Given the description of an element on the screen output the (x, y) to click on. 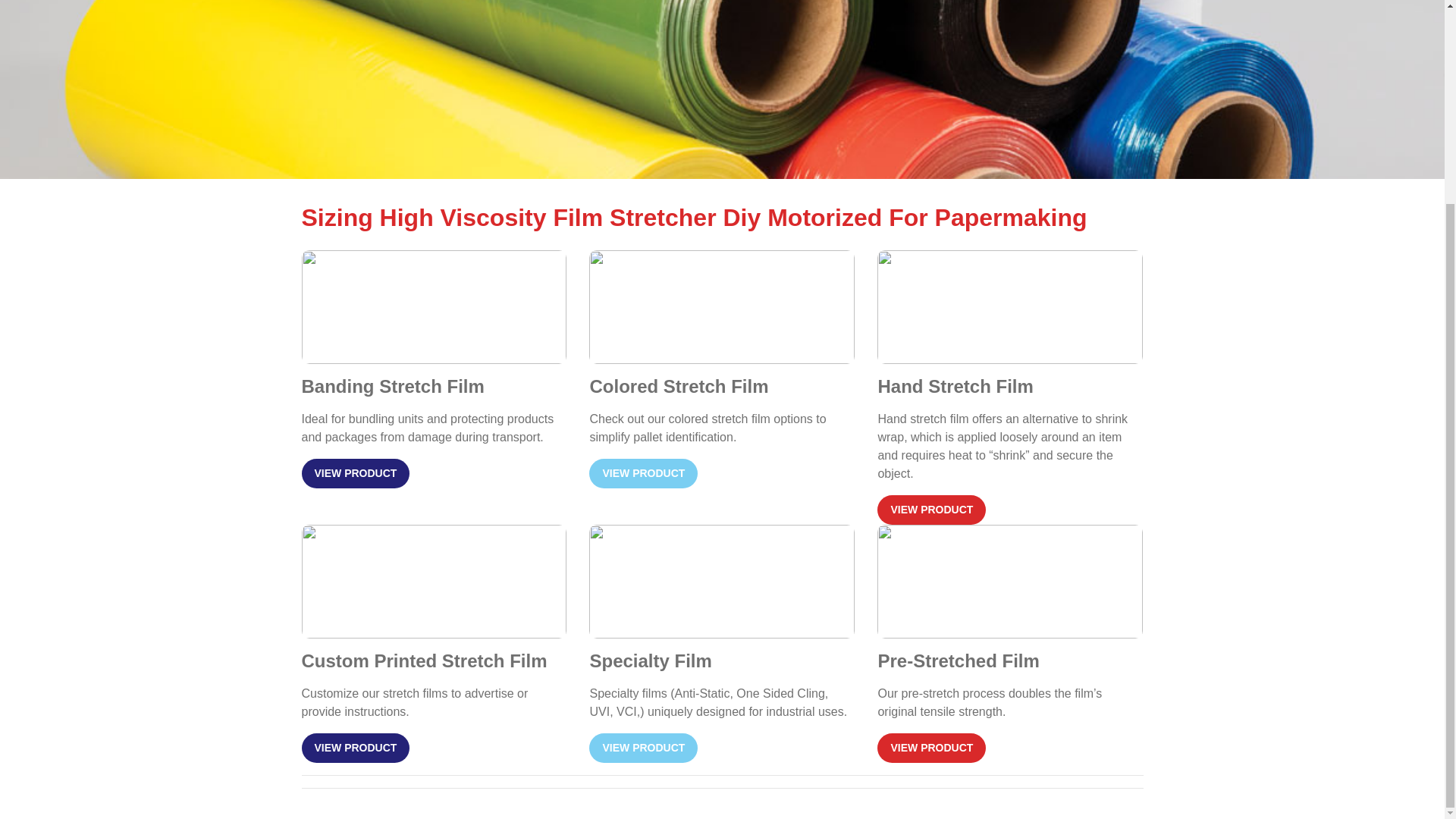
VIEW PRODUCT (643, 747)
VIEW PRODUCT (355, 747)
VIEW PRODUCT (931, 509)
VIEW PRODUCT (355, 473)
VIEW PRODUCT (643, 473)
VIEW PRODUCT (931, 747)
